Given the description of an element on the screen output the (x, y) to click on. 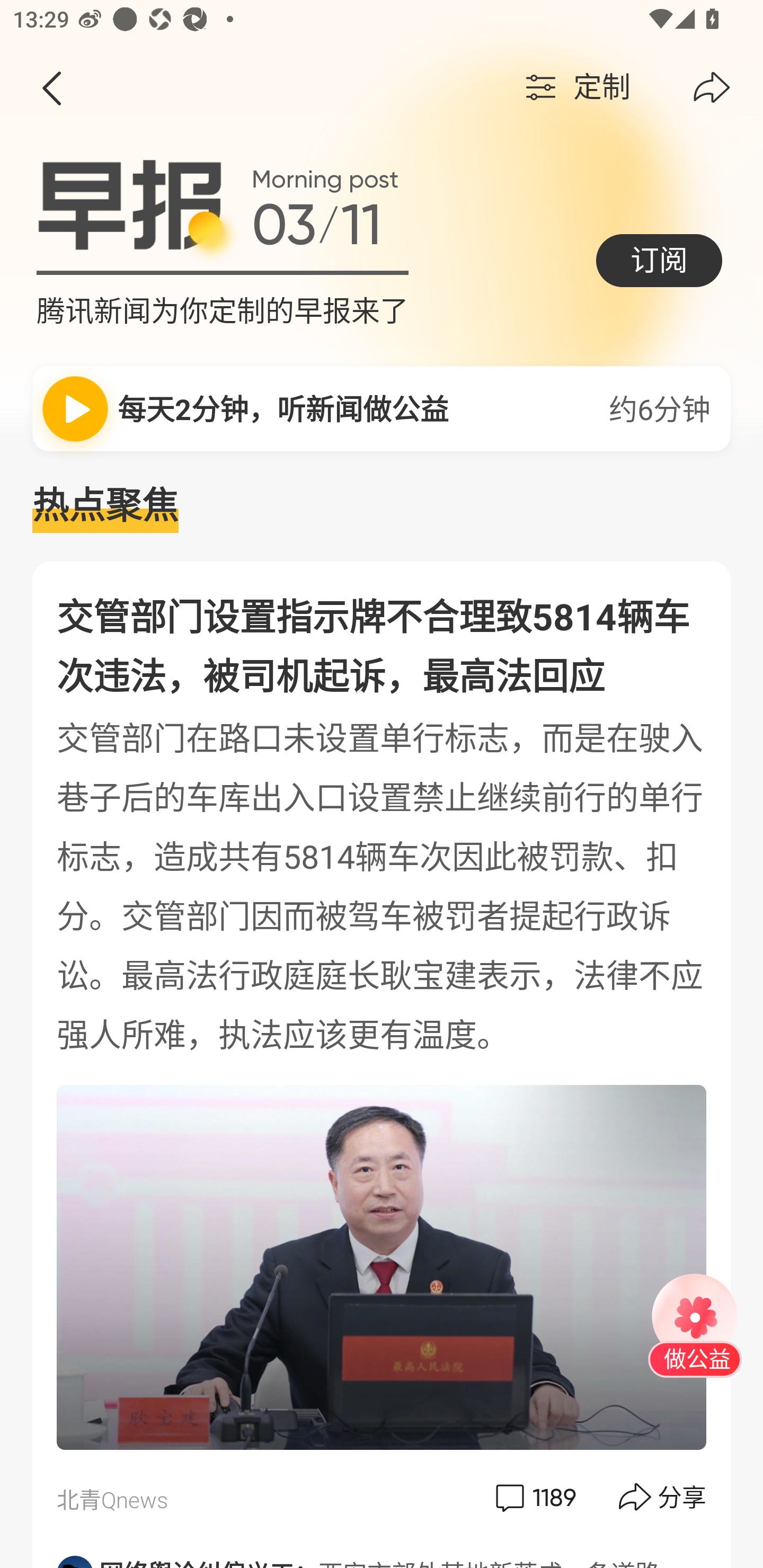
 (50, 87)
 定制 (575, 87)
 (711, 87)
订阅 (658, 259)
 每天2分钟，听新闻做公益 约6分钟 (381, 407)
热点聚焦 (381, 506)
评论  1189 (533, 1497)
 分享 (663, 1497)
